Given the description of an element on the screen output the (x, y) to click on. 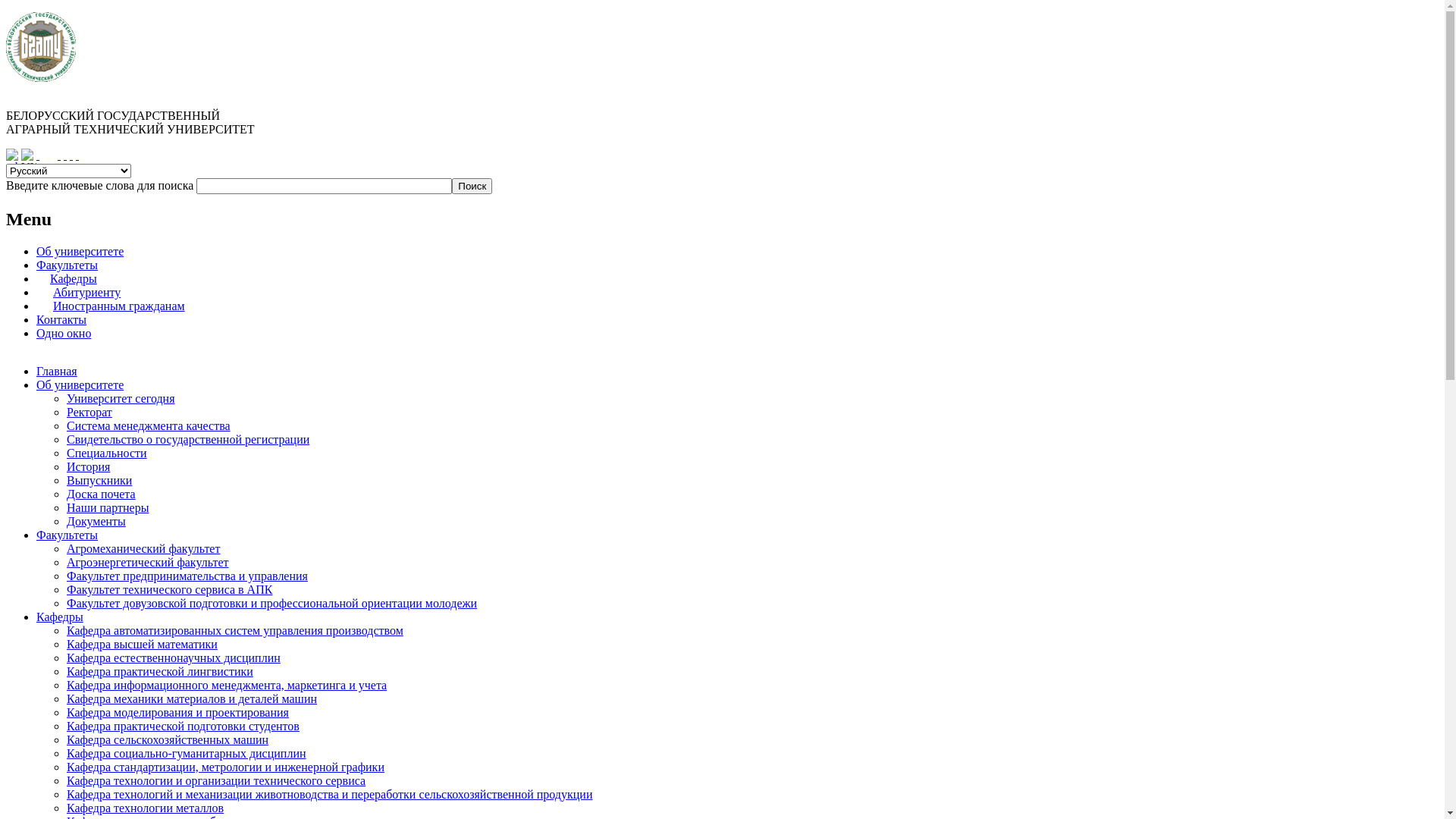
  Element type: text (64, 154)
  Element type: text (37, 154)
  Element type: text (70, 154)
  Element type: text (58, 154)
  Element type: text (76, 154)
